Given the description of an element on the screen output the (x, y) to click on. 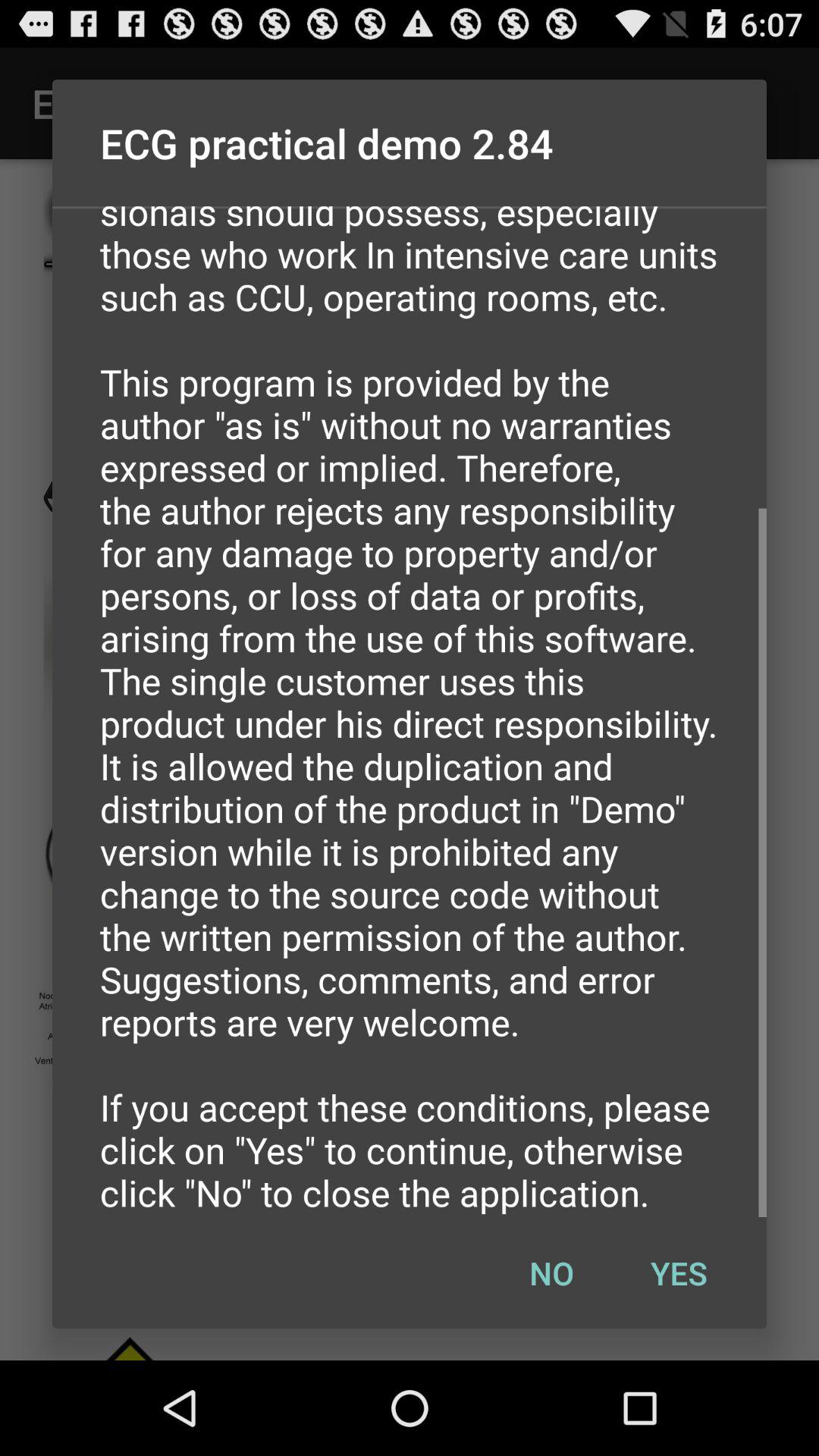
press the button to the right of no item (678, 1272)
